Given the description of an element on the screen output the (x, y) to click on. 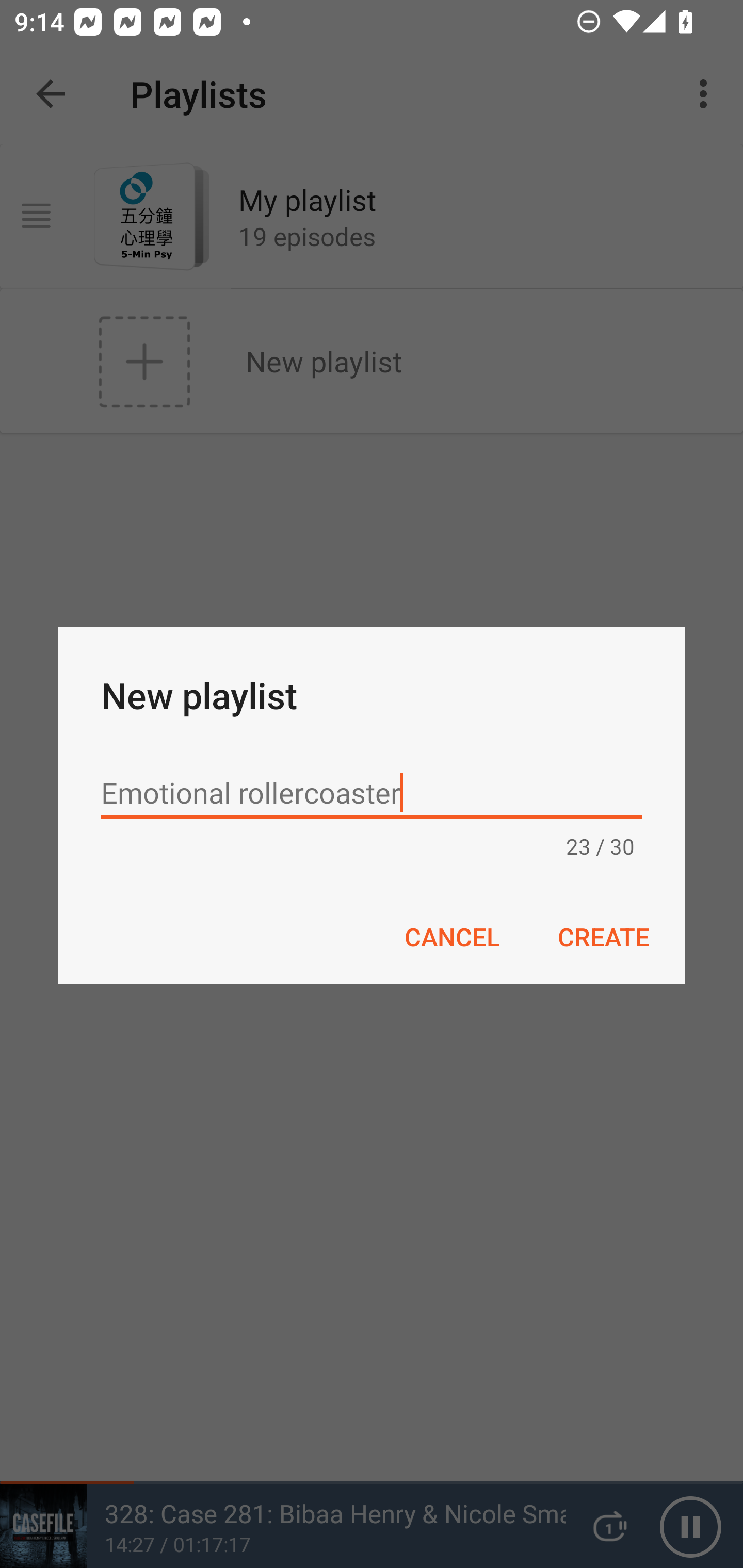
Emotional rollercoaster (371, 792)
CANCEL (451, 936)
CREATE (602, 936)
